Given the description of an element on the screen output the (x, y) to click on. 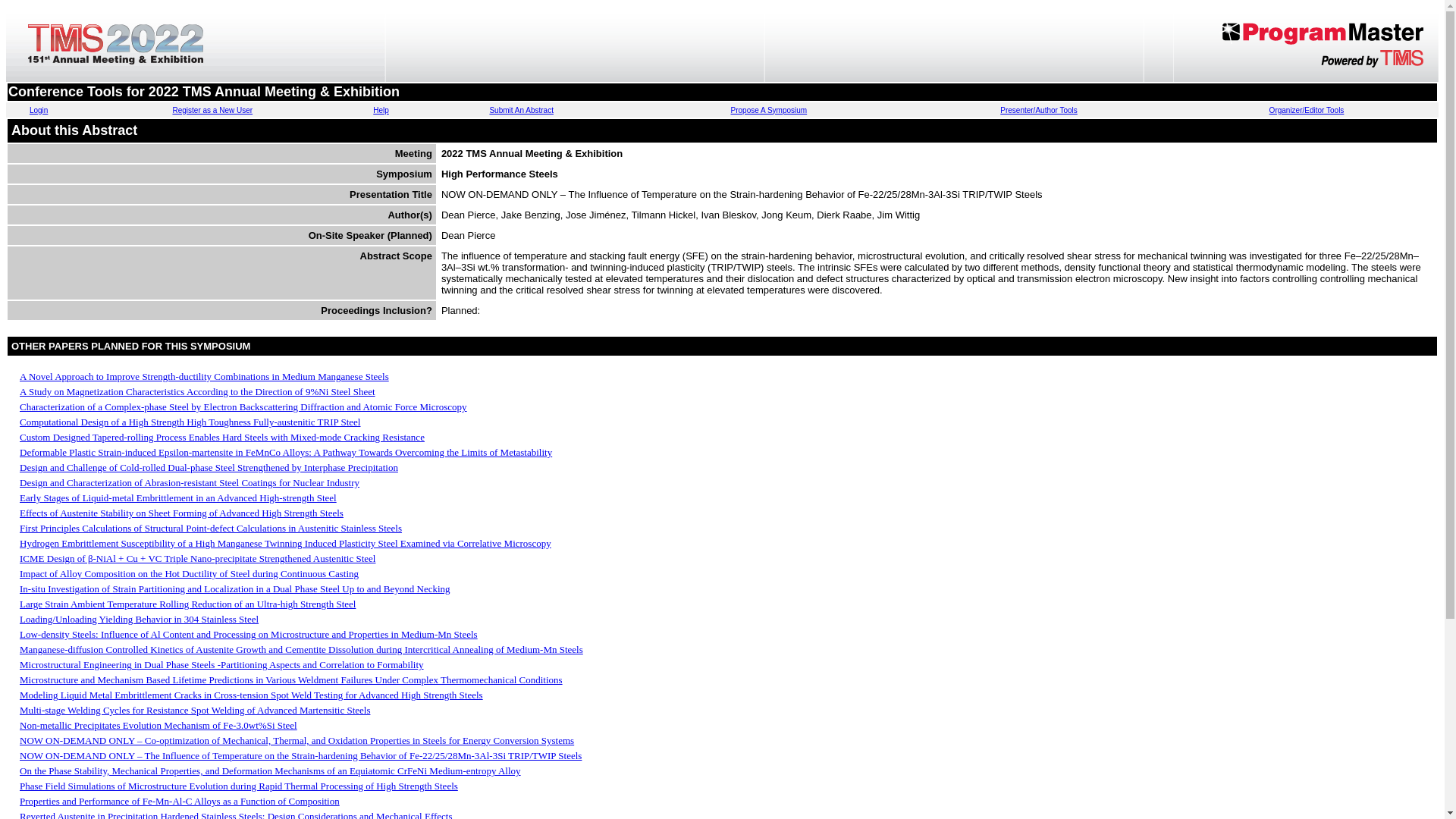
Help (380, 110)
